Given the description of an element on the screen output the (x, y) to click on. 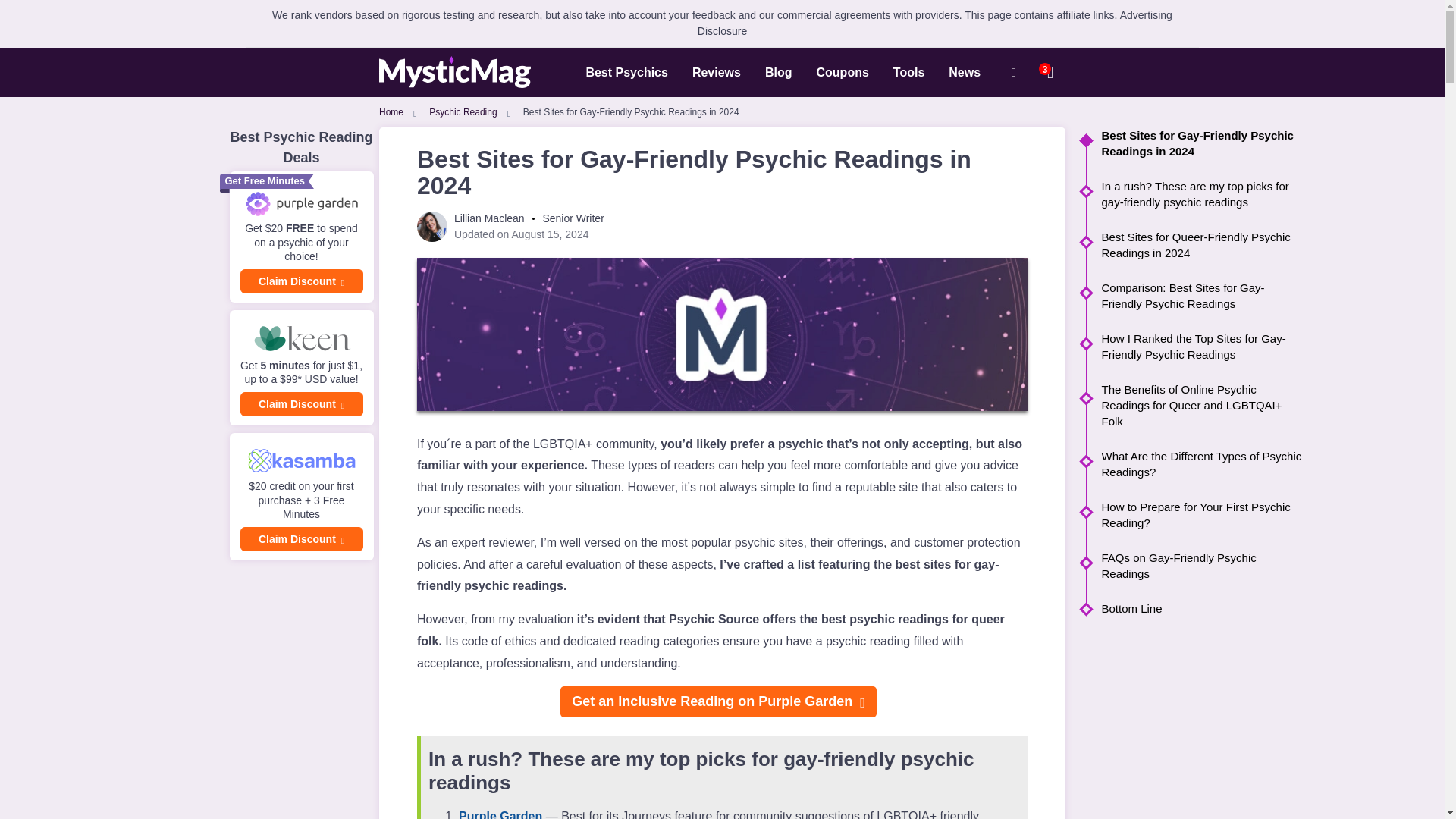
Bottom Line (1193, 608)
Best Psychics (626, 71)
FAQs on Gay-Friendly Psychic Readings (1193, 565)
Reviews (716, 71)
Best Psychics (626, 71)
Reviews (716, 71)
Best Sites for Queer-Friendly Psychic Readings in 2024 (1193, 245)
Tools (908, 71)
Psychic Reading (462, 112)
